Given the description of an element on the screen output the (x, y) to click on. 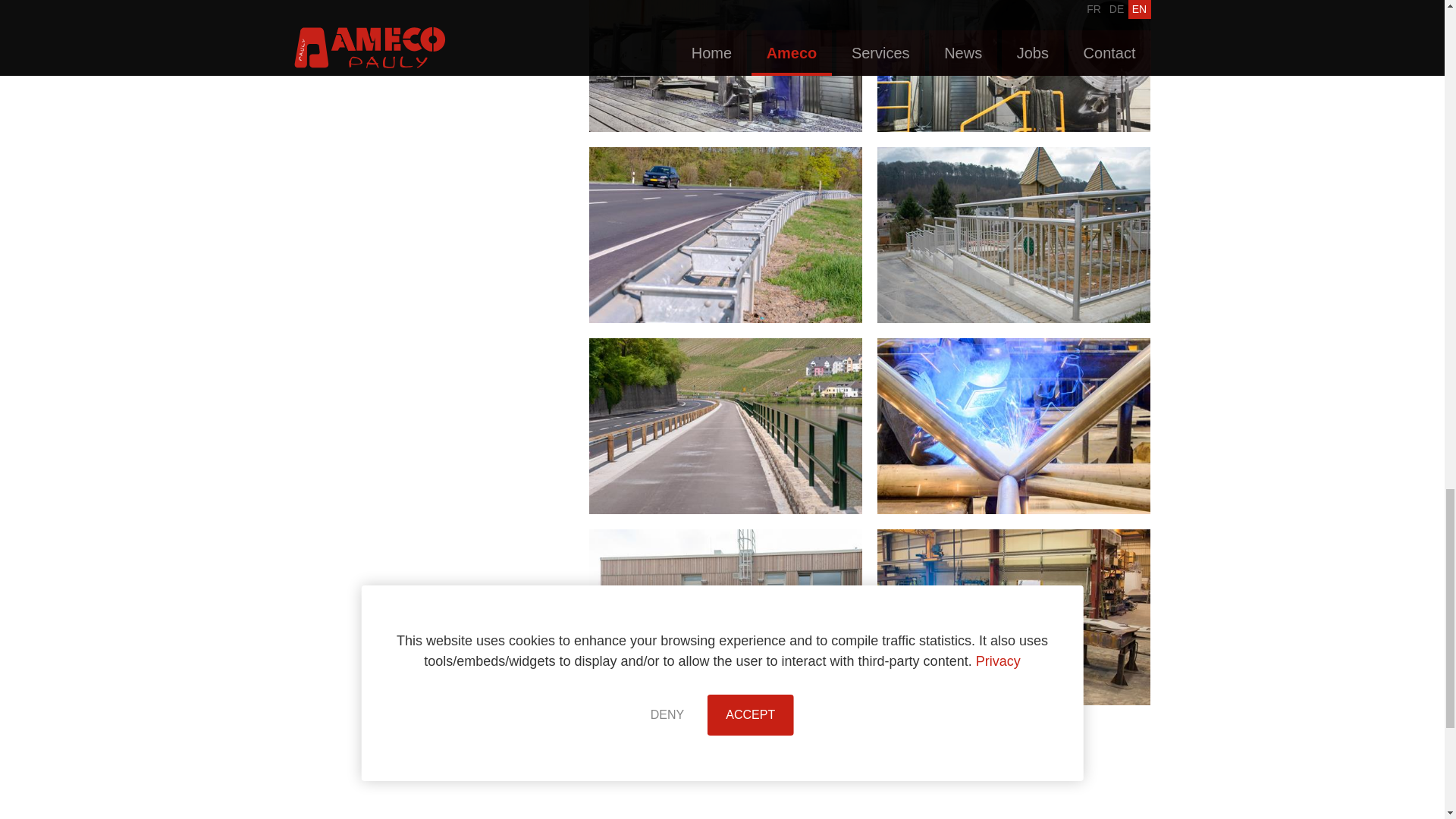
Introduction - Ameco (1013, 617)
Introduction - Ameco (725, 426)
Introduction - Ameco (1013, 234)
Introduction - Ameco (1013, 426)
Introduction - Ameco (725, 617)
Introduction - Ameco (725, 769)
Introduction - Ameco (725, 234)
Introduction - Ameco (725, 65)
Introduction - Ameco (1013, 65)
